Given the description of an element on the screen output the (x, y) to click on. 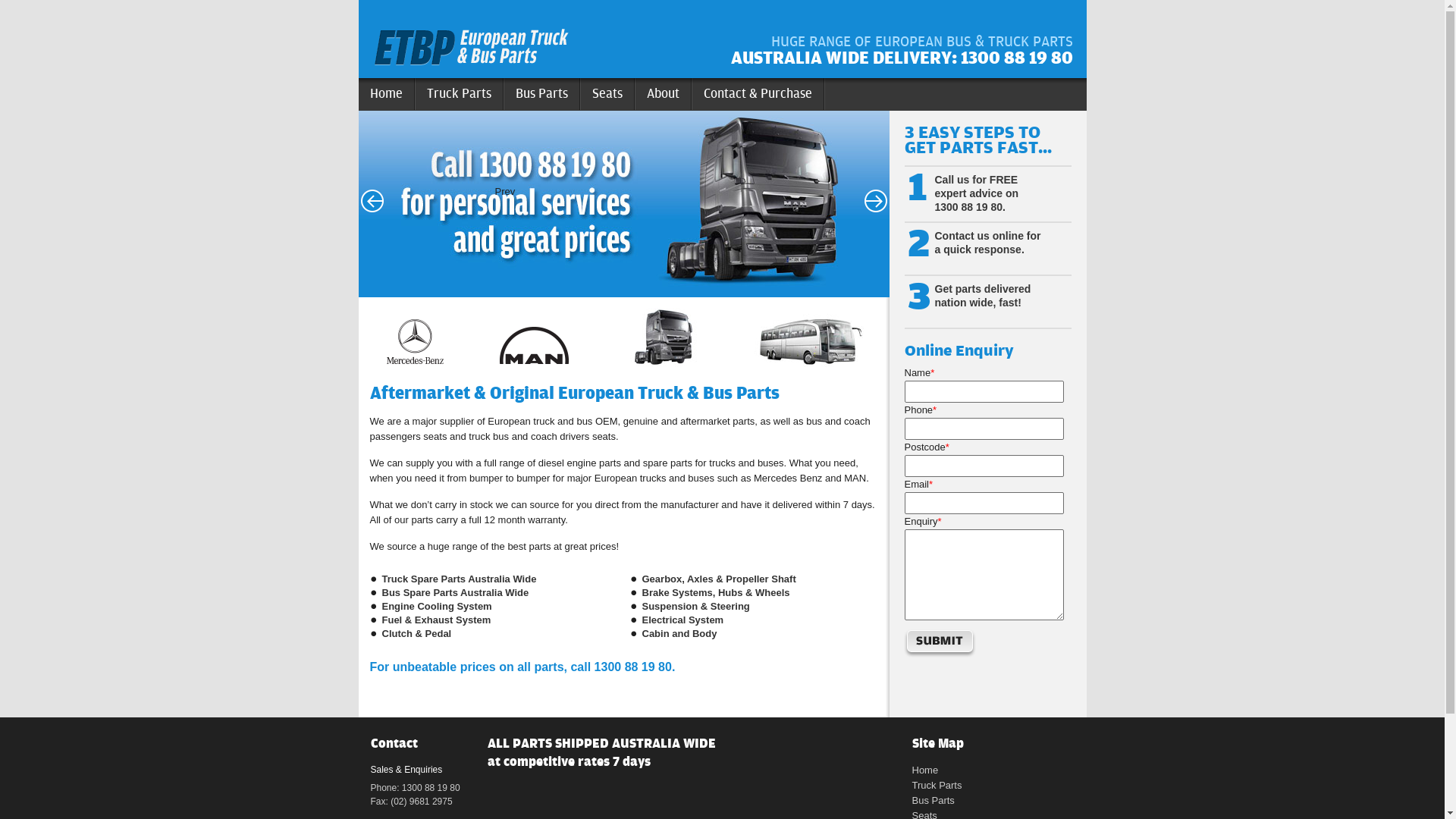
Bus Parts Element type: text (932, 800)
About Element type: text (663, 93)
Home Element type: text (385, 93)
Seats Element type: text (607, 93)
Submit Element type: text (939, 643)
Prev Element type: text (371, 200)
Contact & Purchase Element type: text (757, 93)
Home Element type: text (924, 769)
Truck Parts Element type: text (459, 93)
Bus Parts Element type: text (541, 93)
Next Element type: text (874, 200)
Truck Parts Element type: text (936, 784)
